Given the description of an element on the screen output the (x, y) to click on. 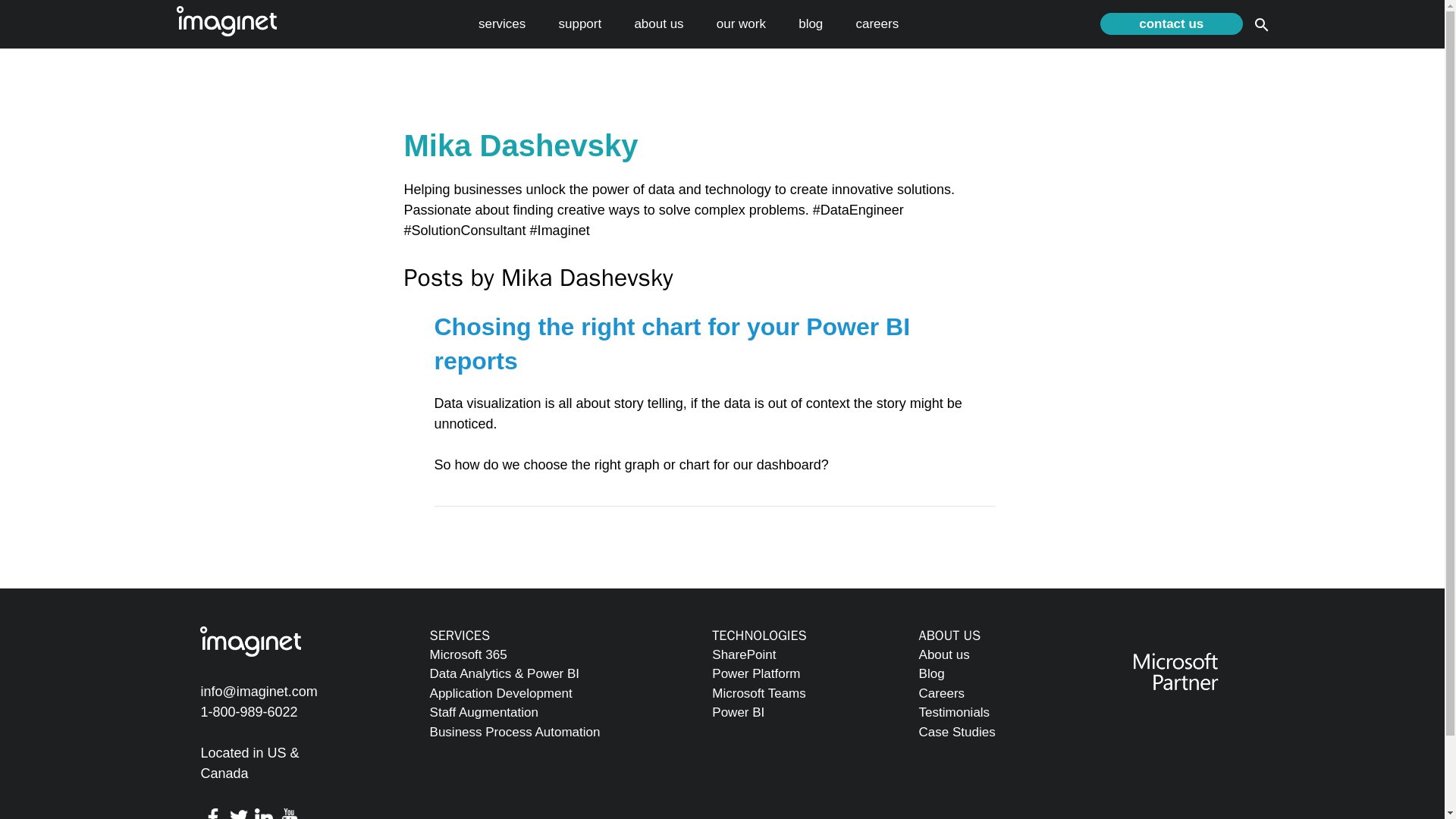
Follow on YouTube (289, 811)
Follow on Twitter (238, 811)
careers (877, 23)
support (579, 23)
blog (809, 23)
about us (657, 23)
contact us (1170, 24)
our work (740, 23)
Follow on LinkedIn (264, 811)
Follow on Facebook (212, 811)
services (502, 23)
